Given the description of an element on the screen output the (x, y) to click on. 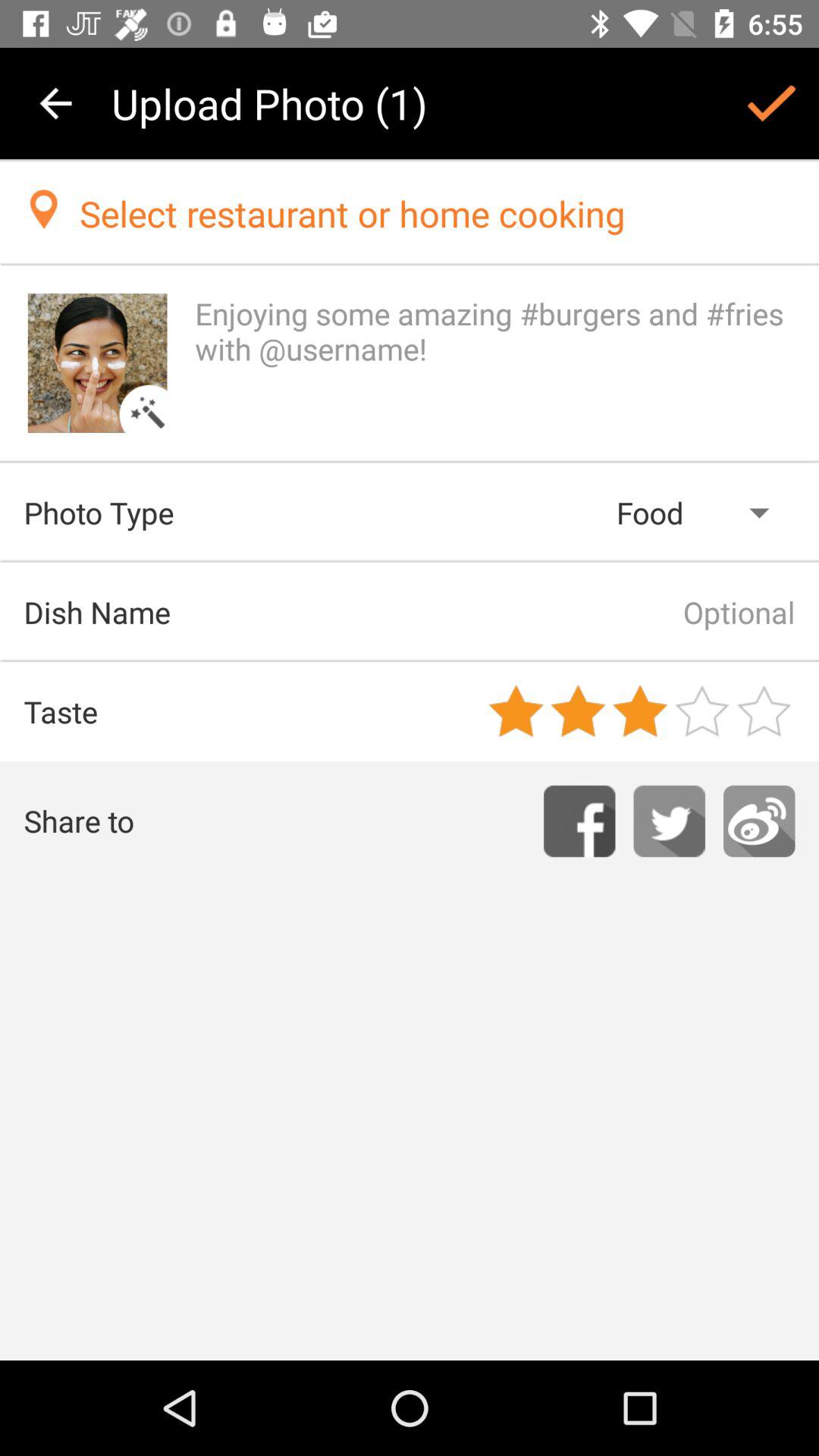
share to facebook (579, 821)
